Given the description of an element on the screen output the (x, y) to click on. 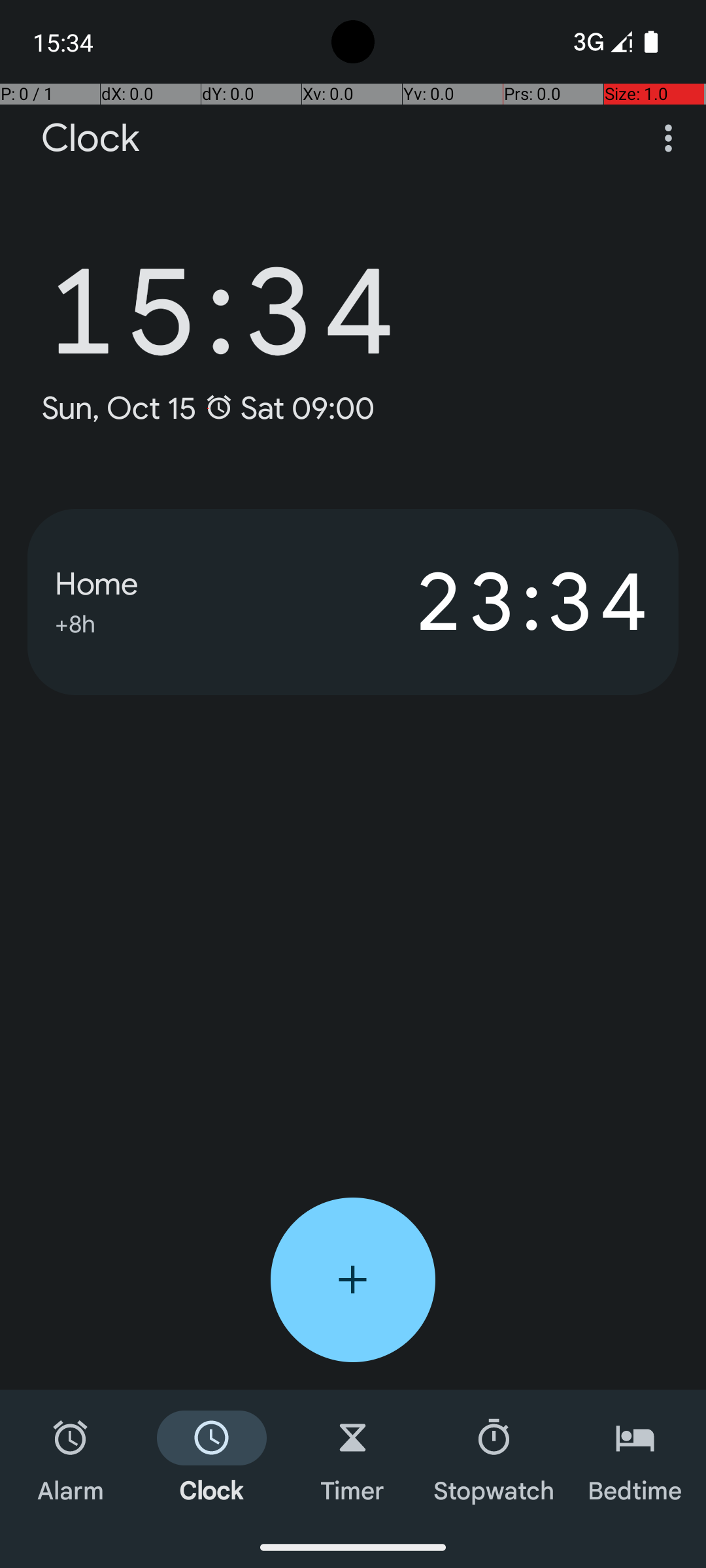
Sun, Oct 15 A Sat 09:00 Element type: android.widget.TextView (207, 407)
+8h Element type: android.widget.TextView (74, 621)
23:34 Element type: android.widget.TextView (502, 601)
